Given the description of an element on the screen output the (x, y) to click on. 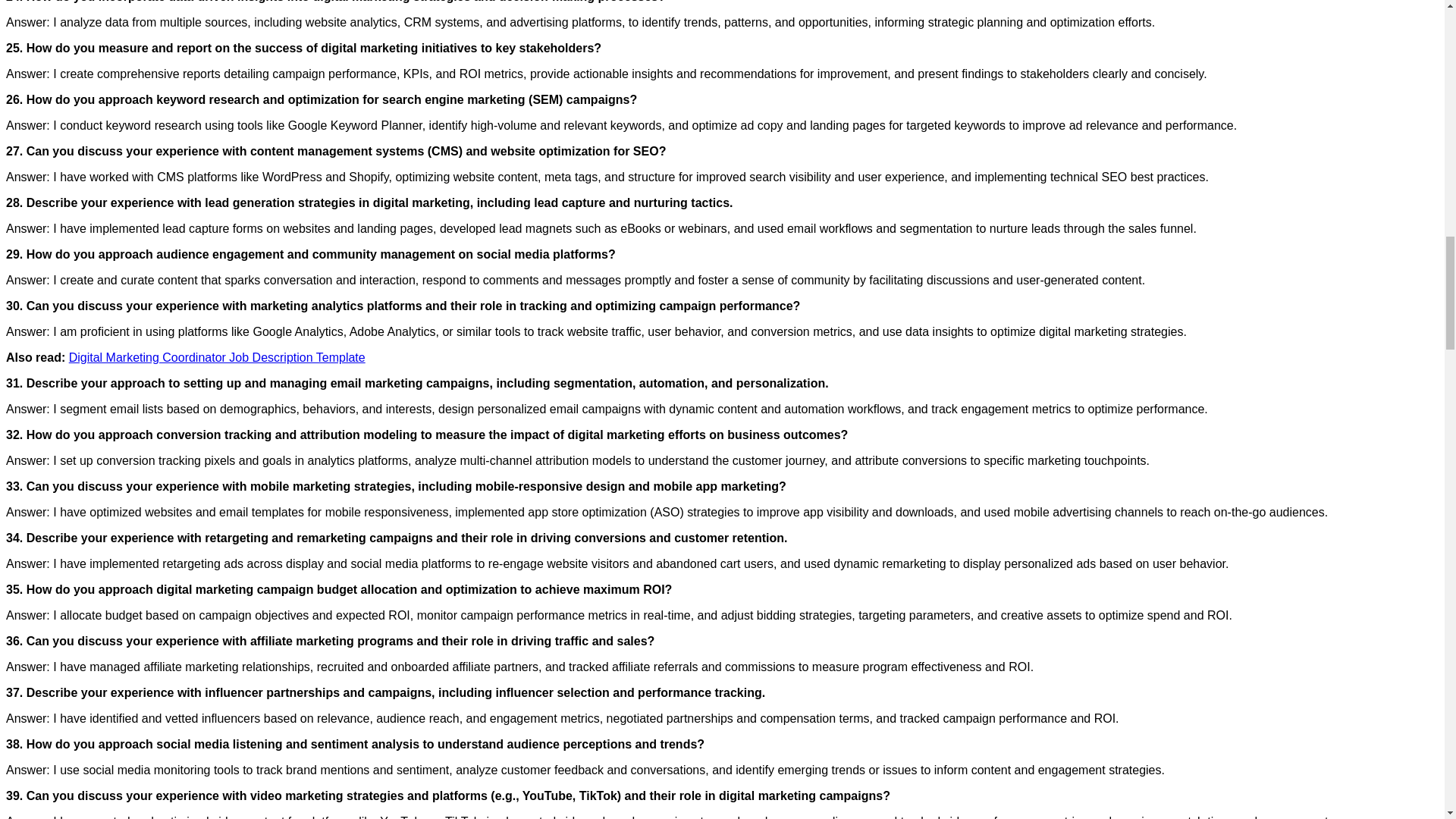
Digital Marketing Coordinator Job Description Template (216, 357)
